Given the description of an element on the screen output the (x, y) to click on. 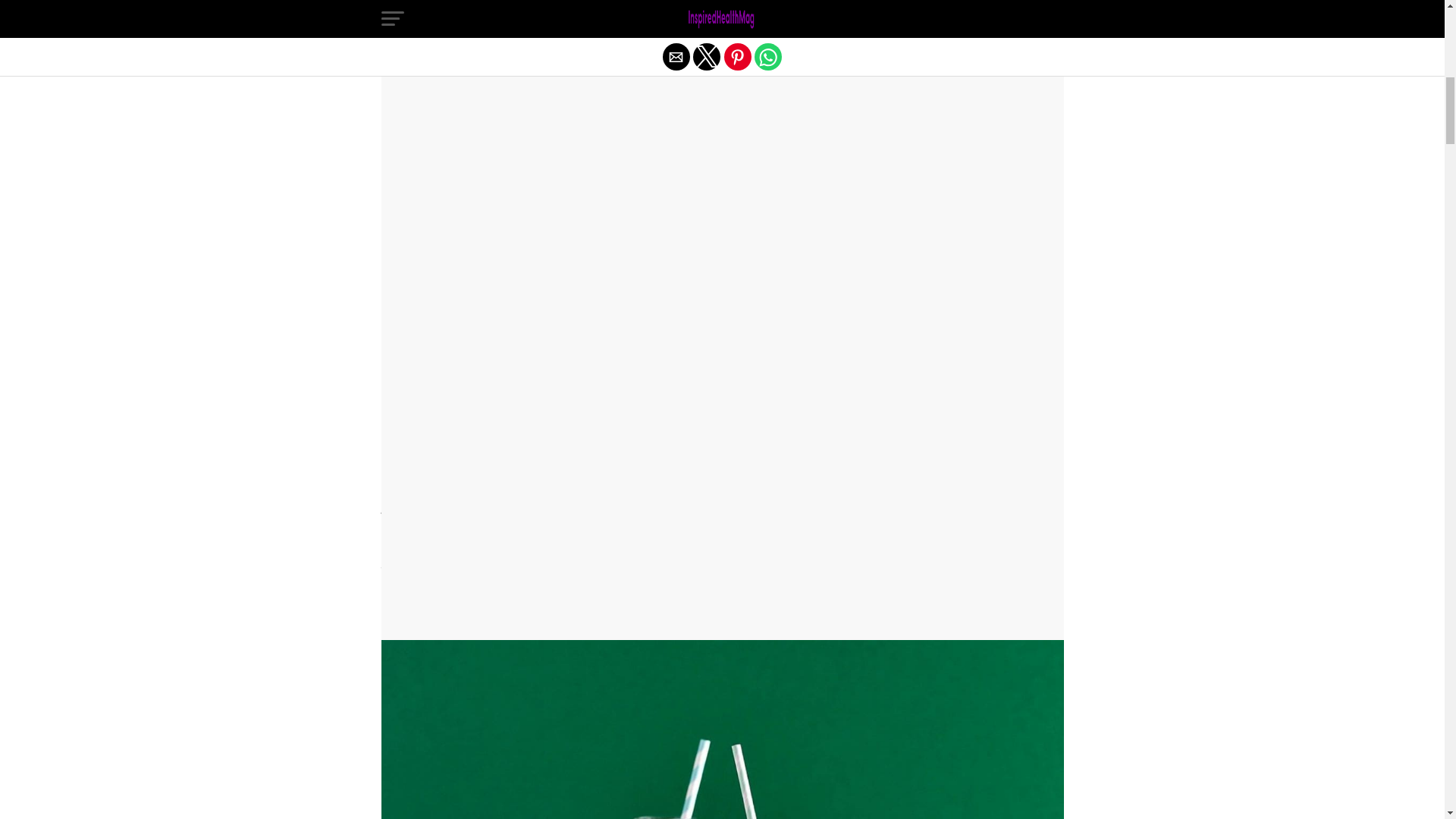
Peppermint: Soothing Solution for Headaches (542, 127)
Aloe Vera: Skin Healing Wonder (505, 232)
Turmeric: Powerful Anti-Inflammatory Spice (534, 154)
Echinacea: The Immunity Booster (509, 48)
Chamomile: Calming and Relaxing Remedy (536, 74)
Valerian Root: Natural Anxiety Reliever (523, 286)
Ginger: A Natural Digestive Aid (502, 101)
Ginger: A Natural Digestive Aid (502, 101)
Frequently Asked Questions (494, 312)
Frequently Asked Questions (494, 312)
